Given the description of an element on the screen output the (x, y) to click on. 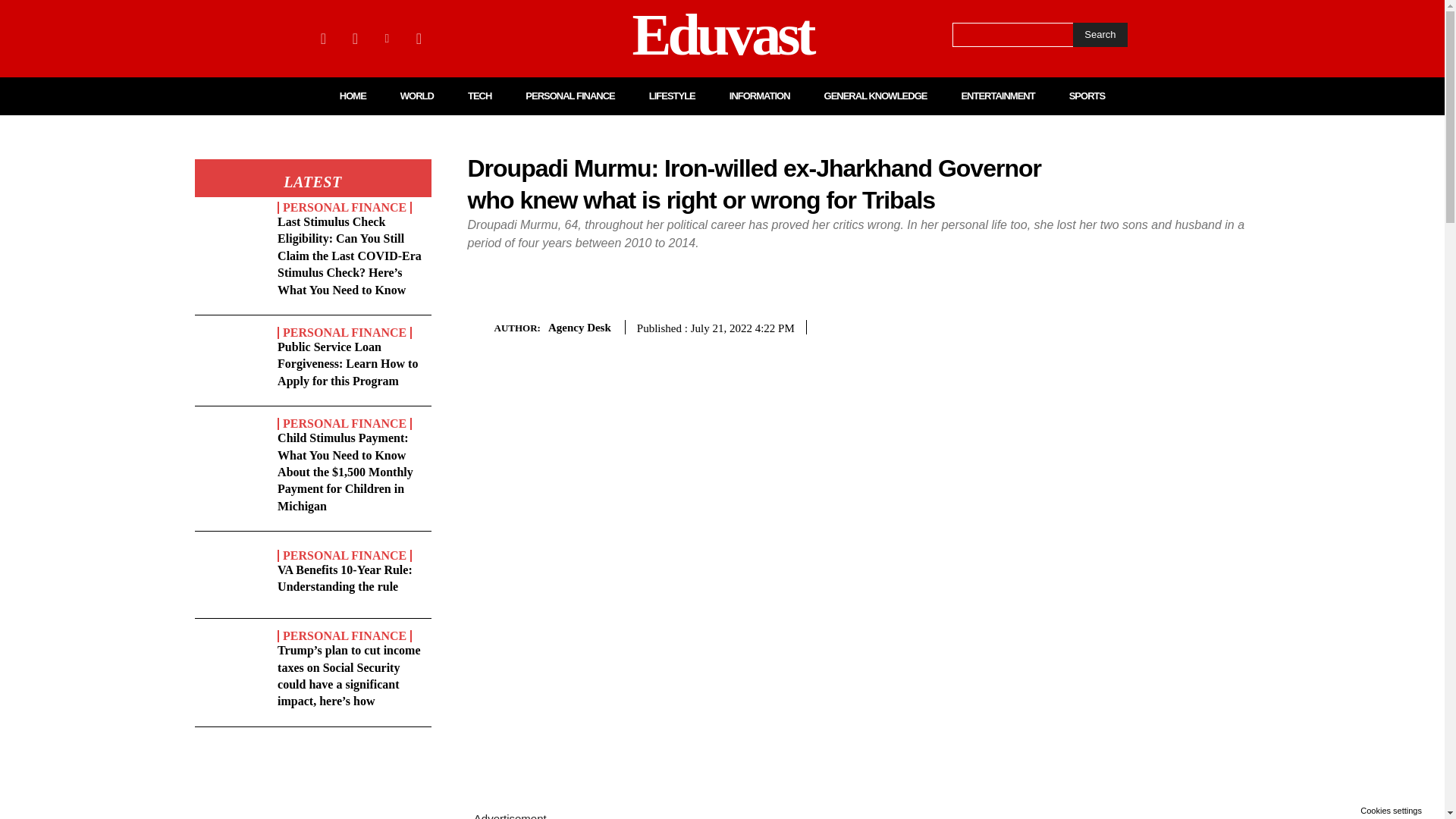
Linkedin (386, 38)
ENTERTAINMENT (996, 95)
Twitter (418, 38)
PERSONAL FINANCE (345, 207)
Instagram (354, 38)
PERSONAL FINANCE (345, 555)
Search (1099, 34)
GENERAL KNOWLEDGE (875, 95)
